Given the description of an element on the screen output the (x, y) to click on. 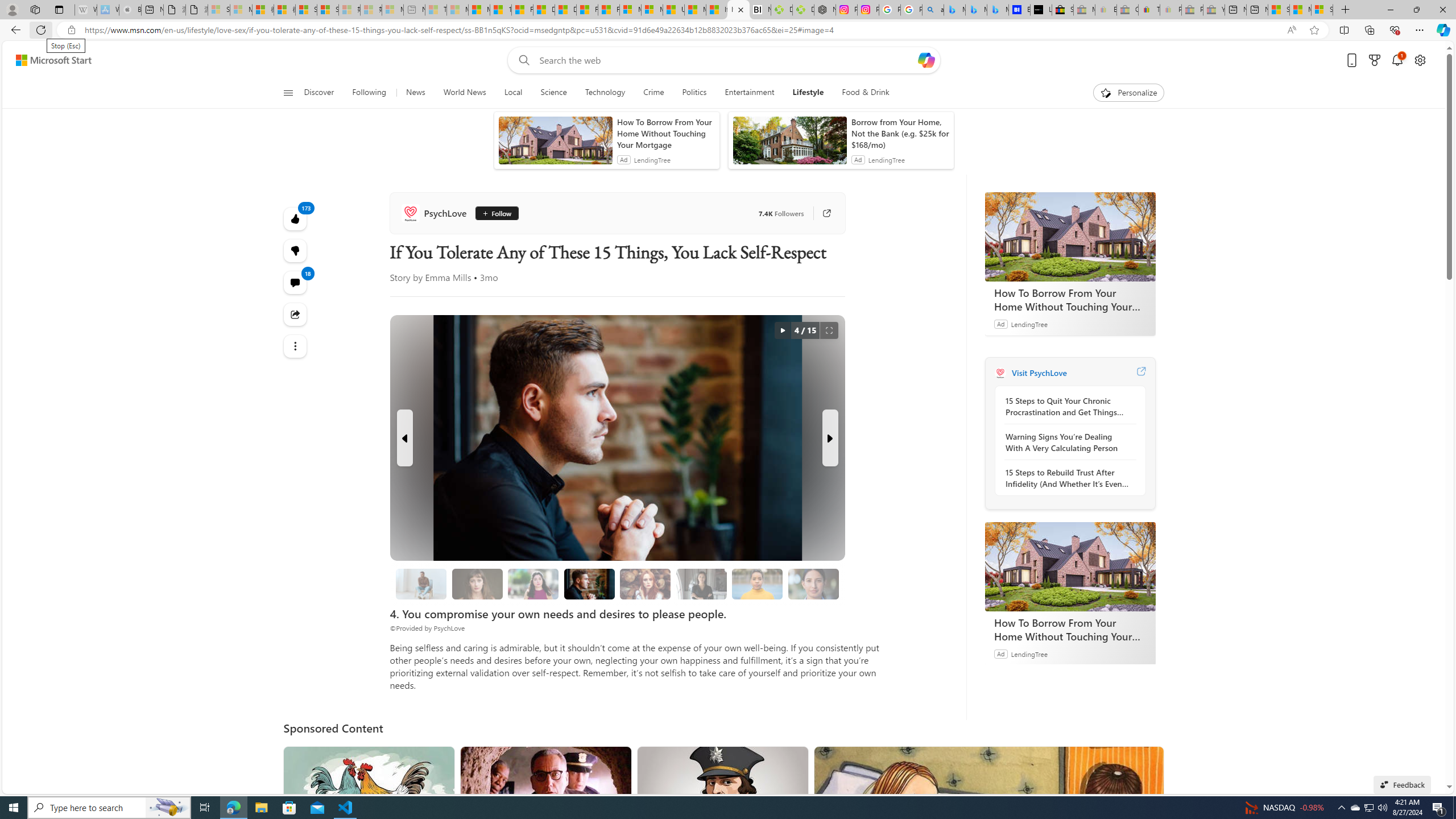
Previous Slide (404, 437)
Sign in to your Microsoft account - Sleeping (218, 9)
Descarga Driver Updater (802, 9)
8. Surround yourself with solution-oriented people. (700, 583)
Drinking tea every day is proven to delay biological aging (565, 9)
